Given the description of an element on the screen output the (x, y) to click on. 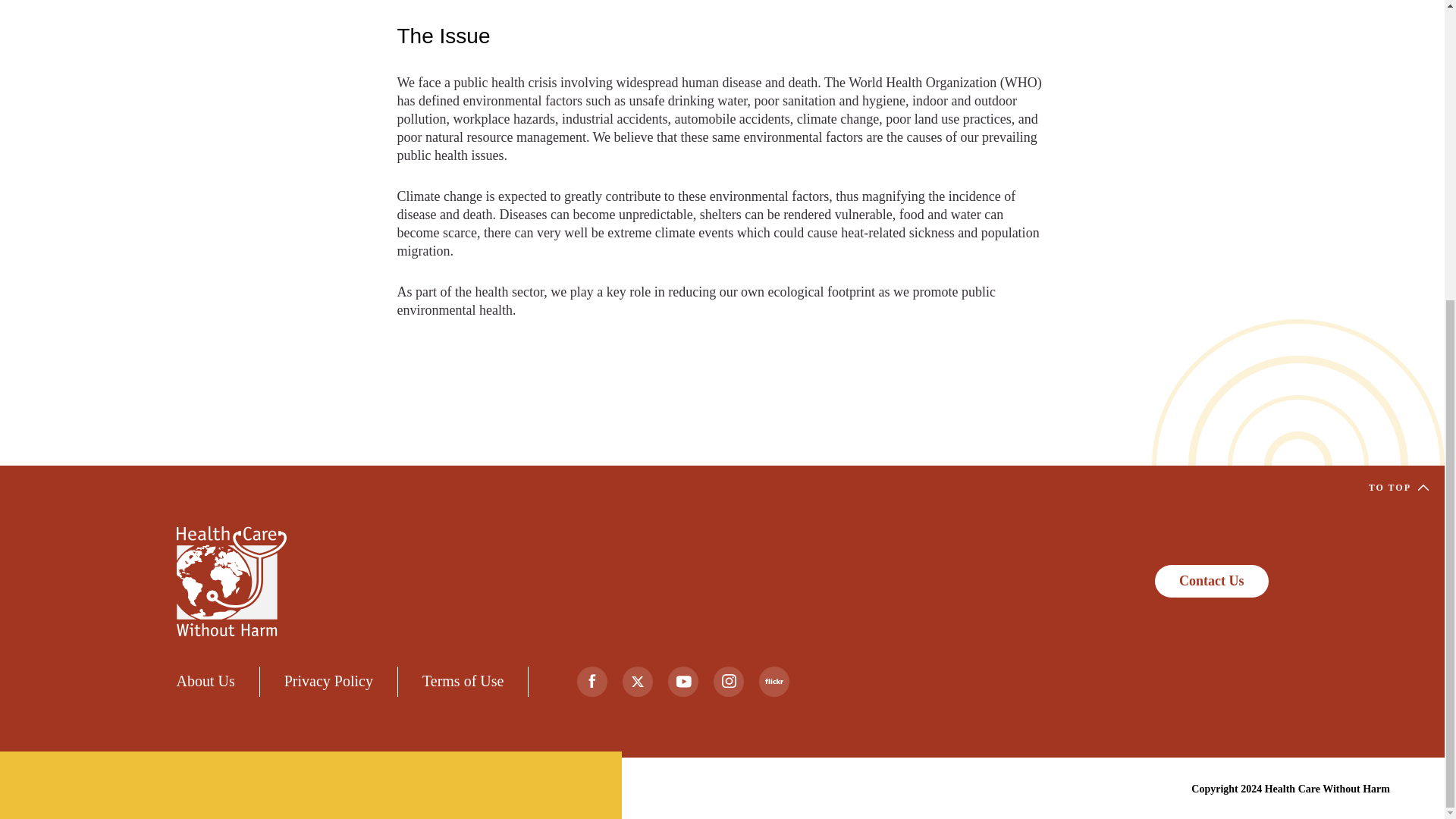
Home (230, 581)
Privacy Policy (327, 680)
About Us (205, 680)
Contact Us (1211, 580)
TO TOP (1398, 488)
